Given the description of an element on the screen output the (x, y) to click on. 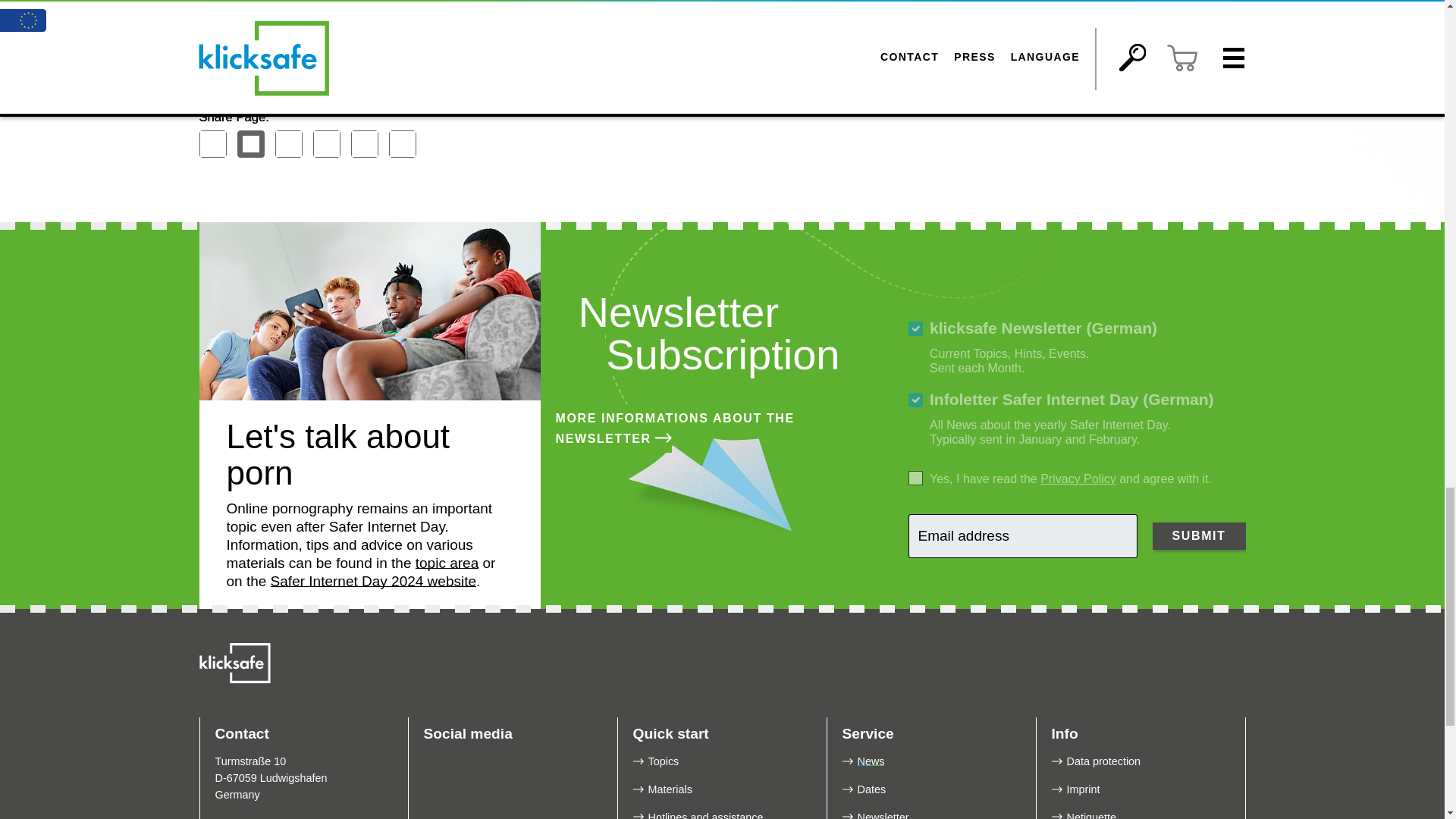
Share on Threema (326, 144)
Share on X (249, 144)
1 (915, 400)
1 (915, 328)
Send by email (401, 144)
Share on Facebook (211, 144)
Share on Whatsapp (363, 144)
1 (915, 477)
Share on Telegram (288, 144)
Let's talk about porn (369, 310)
